Given the description of an element on the screen output the (x, y) to click on. 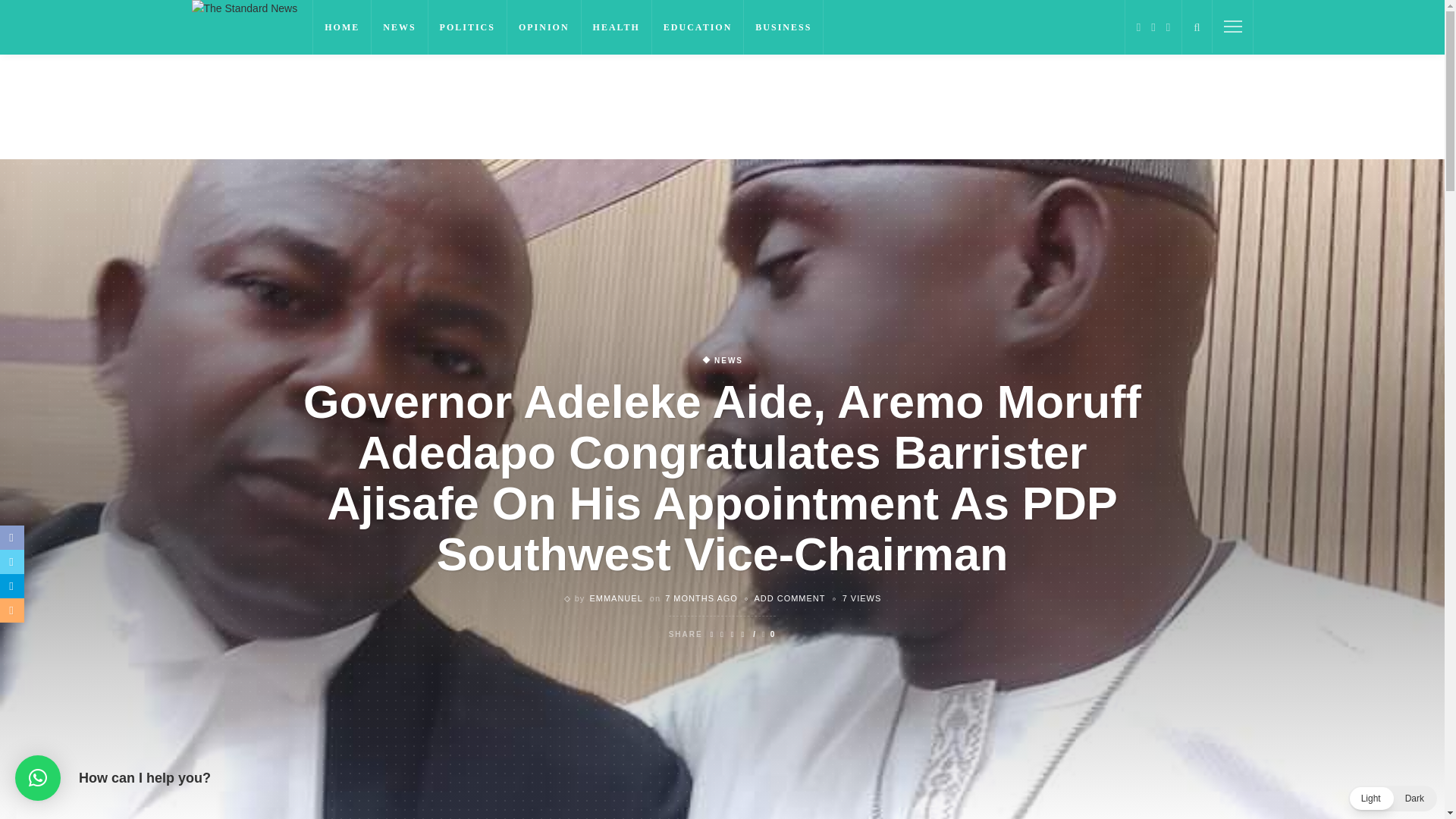
NEWS (399, 27)
HEALTH (616, 27)
News (721, 360)
BUSINESS (784, 27)
EDUCATION (698, 27)
The Standard News (243, 8)
HOME (342, 27)
POLITICS (467, 27)
OPINION (543, 27)
